Given the description of an element on the screen output the (x, y) to click on. 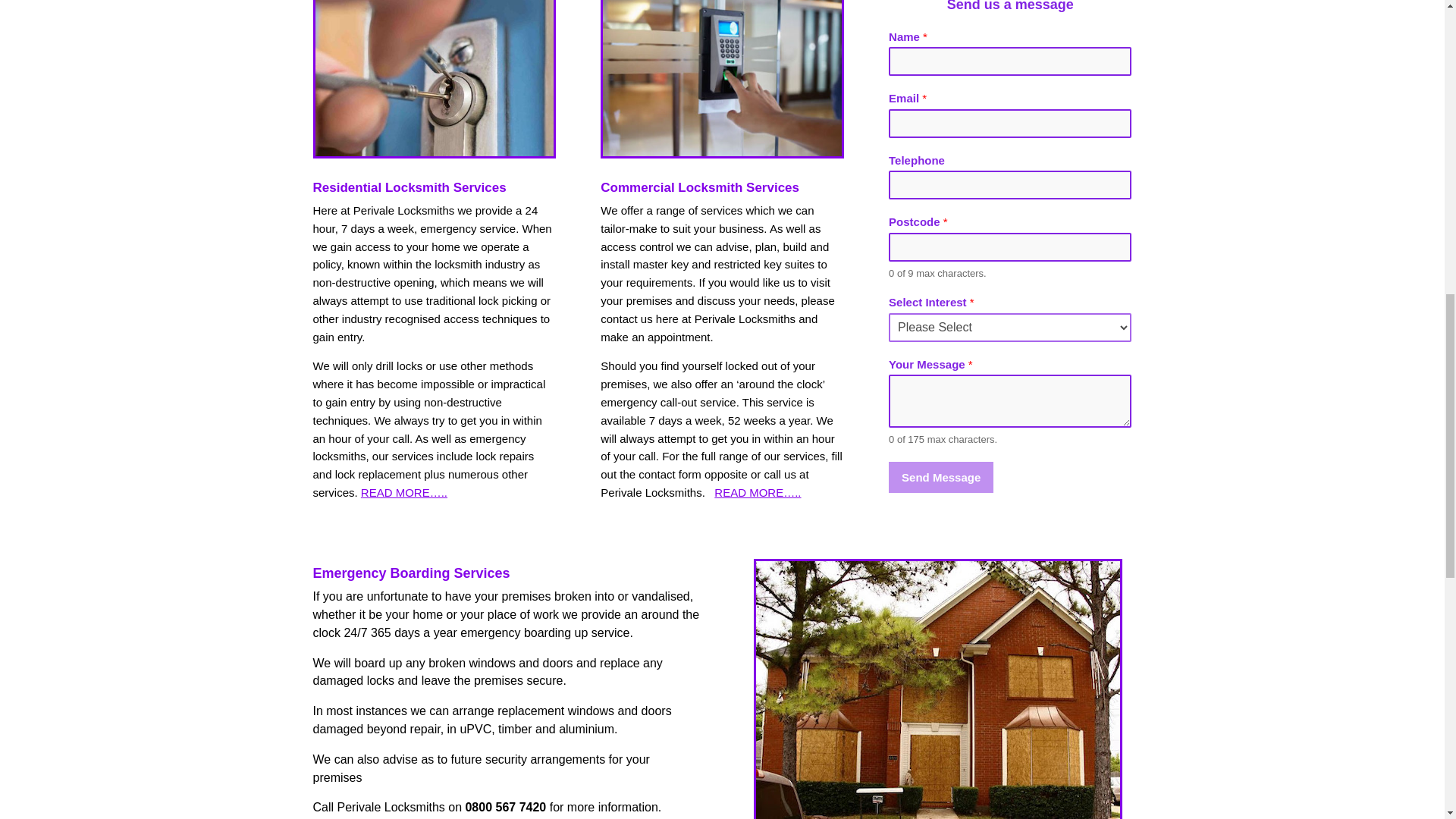
Perivale Locksmiths Emergency Boarding UP (937, 690)
Commercial Locksmiths (757, 492)
Residential Locksmiths (403, 492)
Send Message (940, 477)
